Given the description of an element on the screen output the (x, y) to click on. 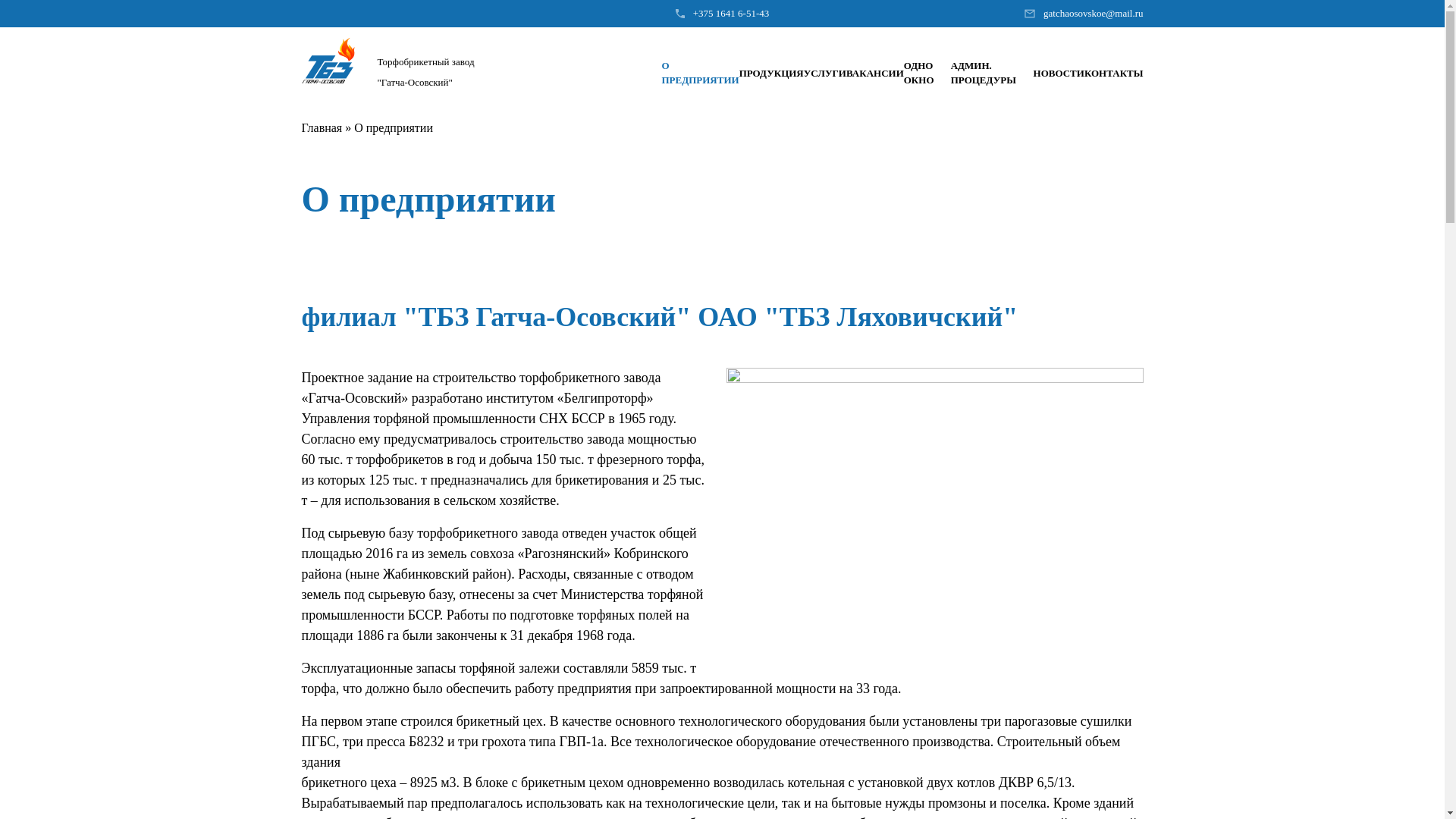
+375 1641 6-51-43 Element type: text (731, 13)
gatchaosovskoe@mail.ru Element type: text (1092, 13)
